Given the description of an element on the screen output the (x, y) to click on. 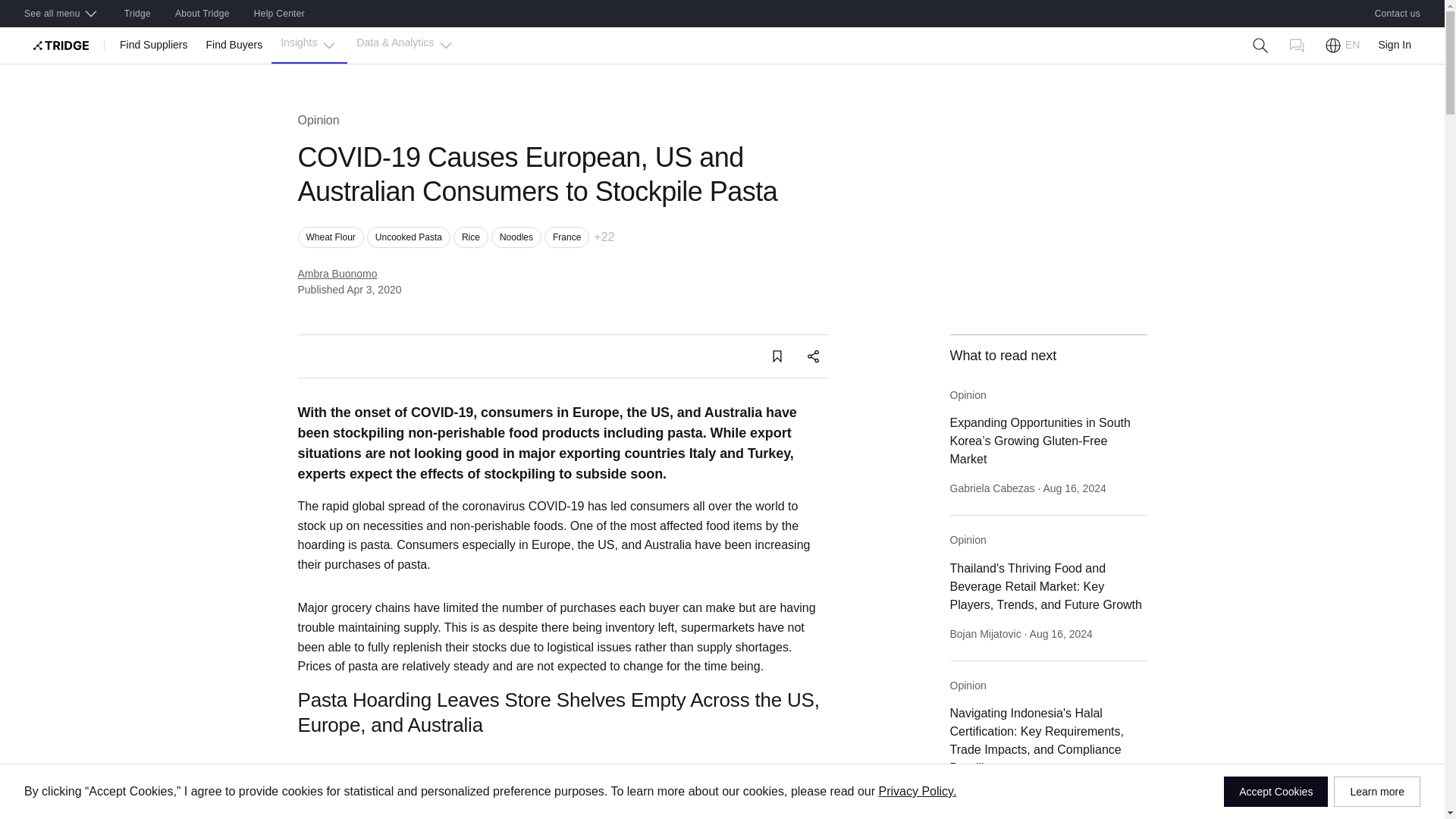
Help Center (279, 13)
Contact us (1397, 13)
About Tridge (202, 13)
See all menu (61, 13)
Tridge (137, 13)
